Given the description of an element on the screen output the (x, y) to click on. 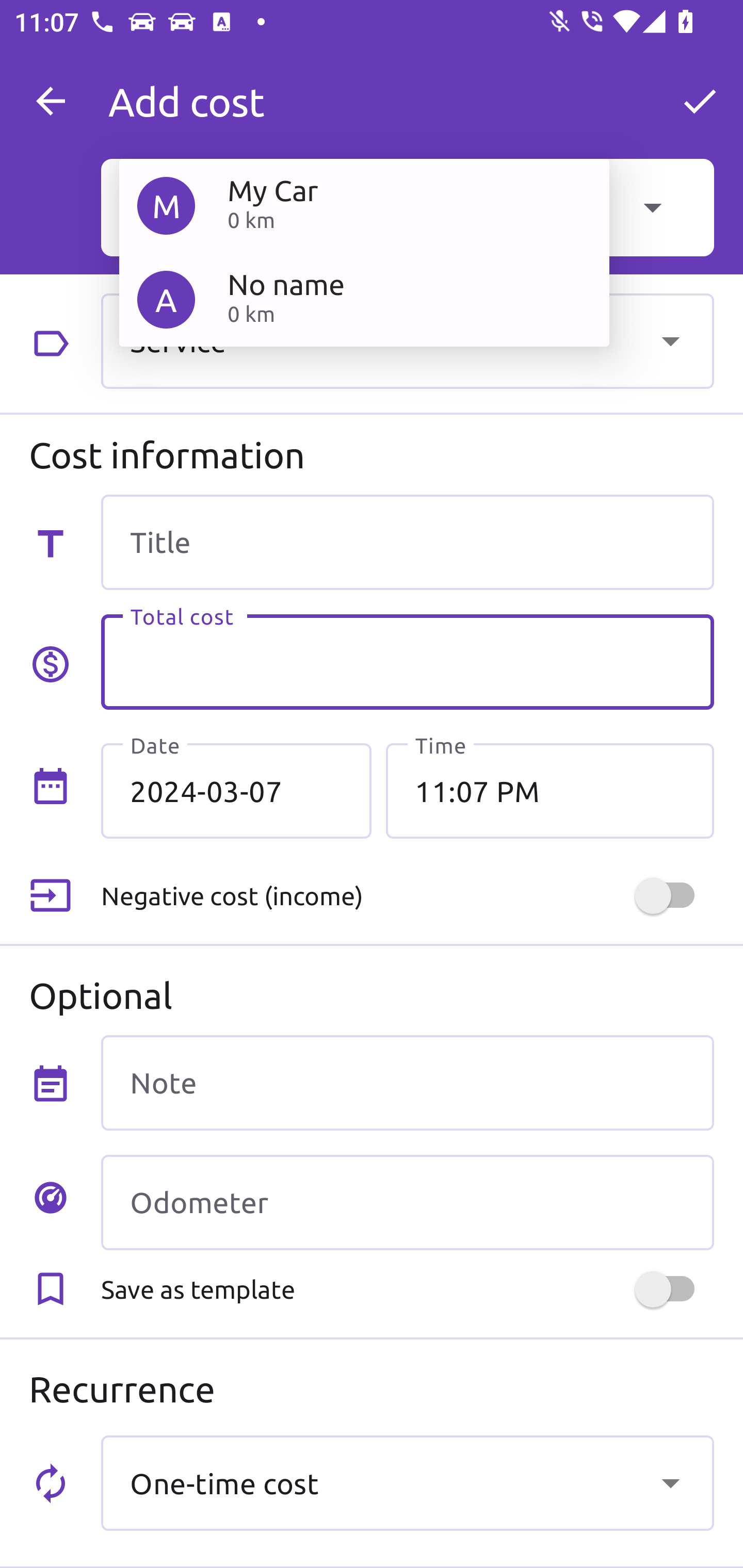
M My Car 0 km (363, 205)
A No name 0 km (363, 299)
